Given the description of an element on the screen output the (x, y) to click on. 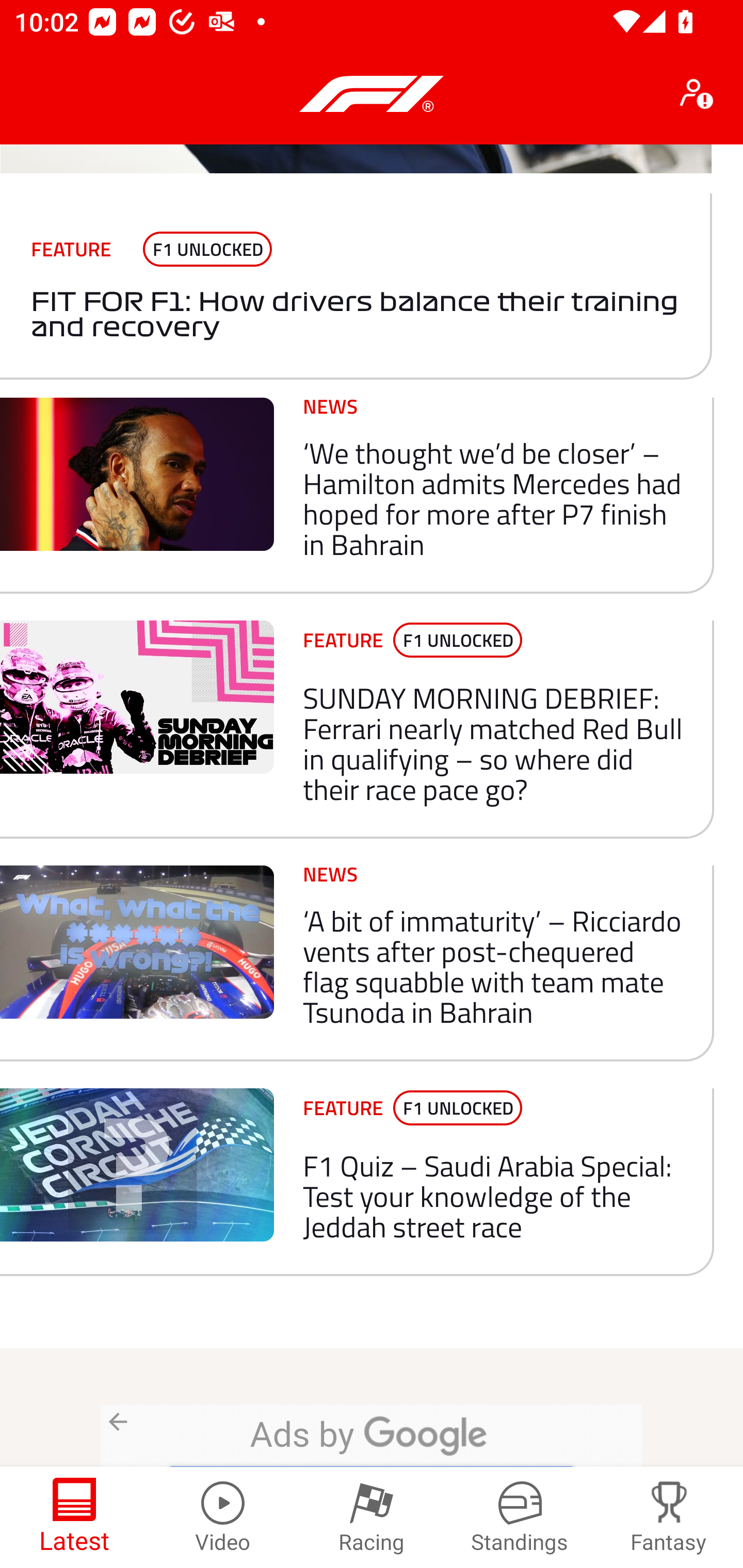
Video (222, 1517)
Racing (371, 1517)
Standings (519, 1517)
Fantasy (668, 1517)
